Given the description of an element on the screen output the (x, y) to click on. 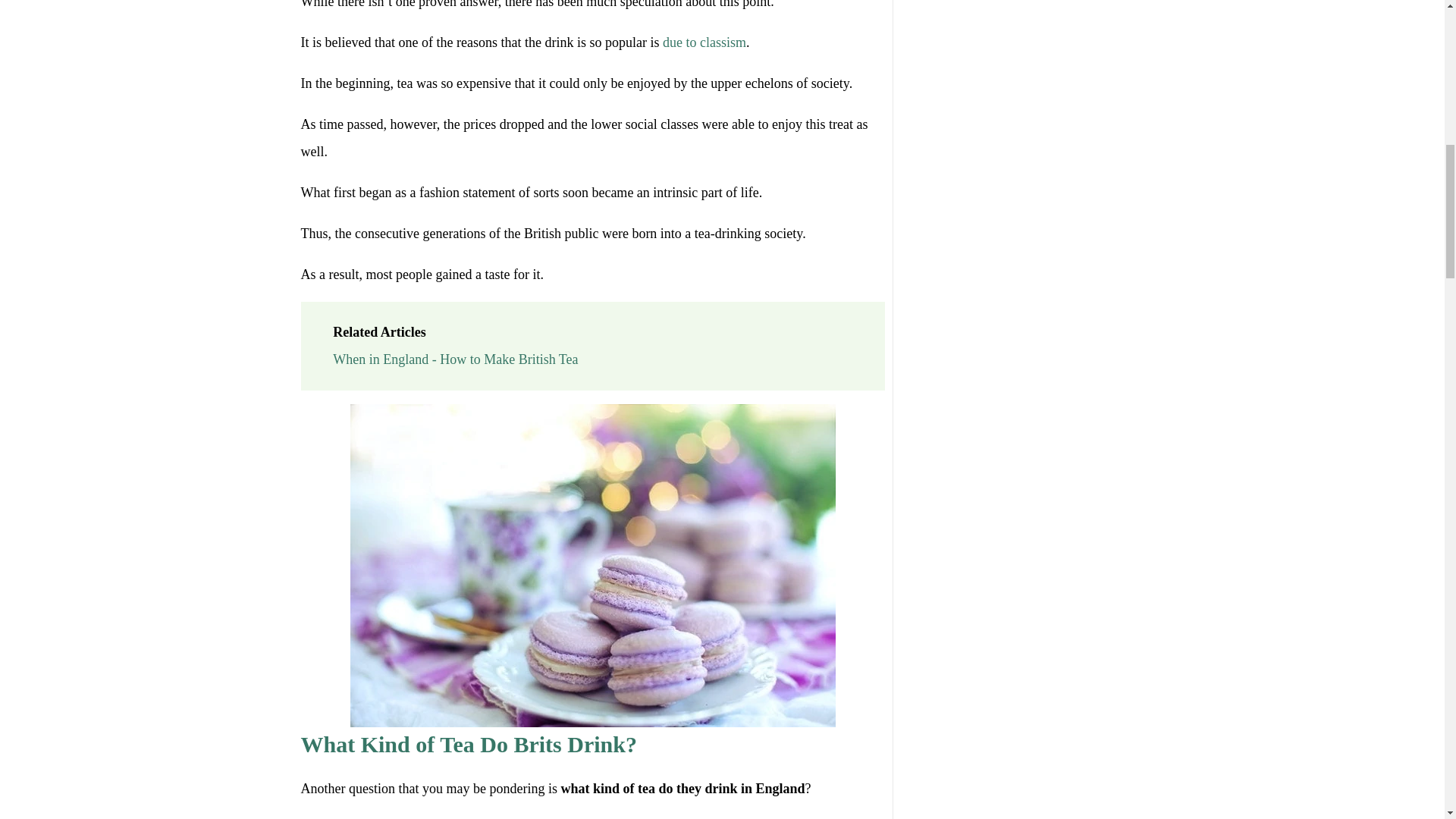
When in England - How to Make British Tea (455, 359)
due to classism (703, 42)
